Given the description of an element on the screen output the (x, y) to click on. 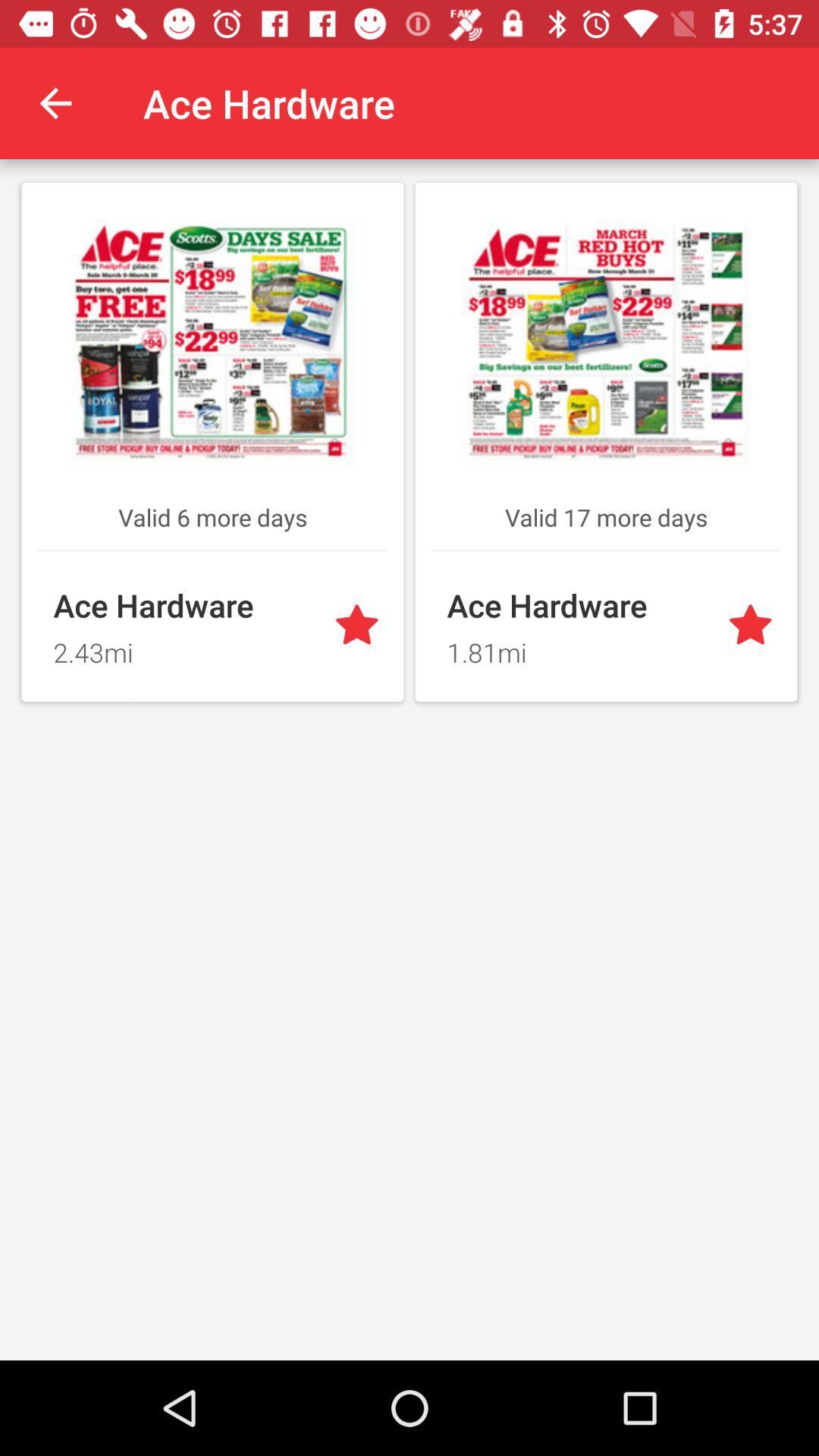
save option (359, 626)
